Given the description of an element on the screen output the (x, y) to click on. 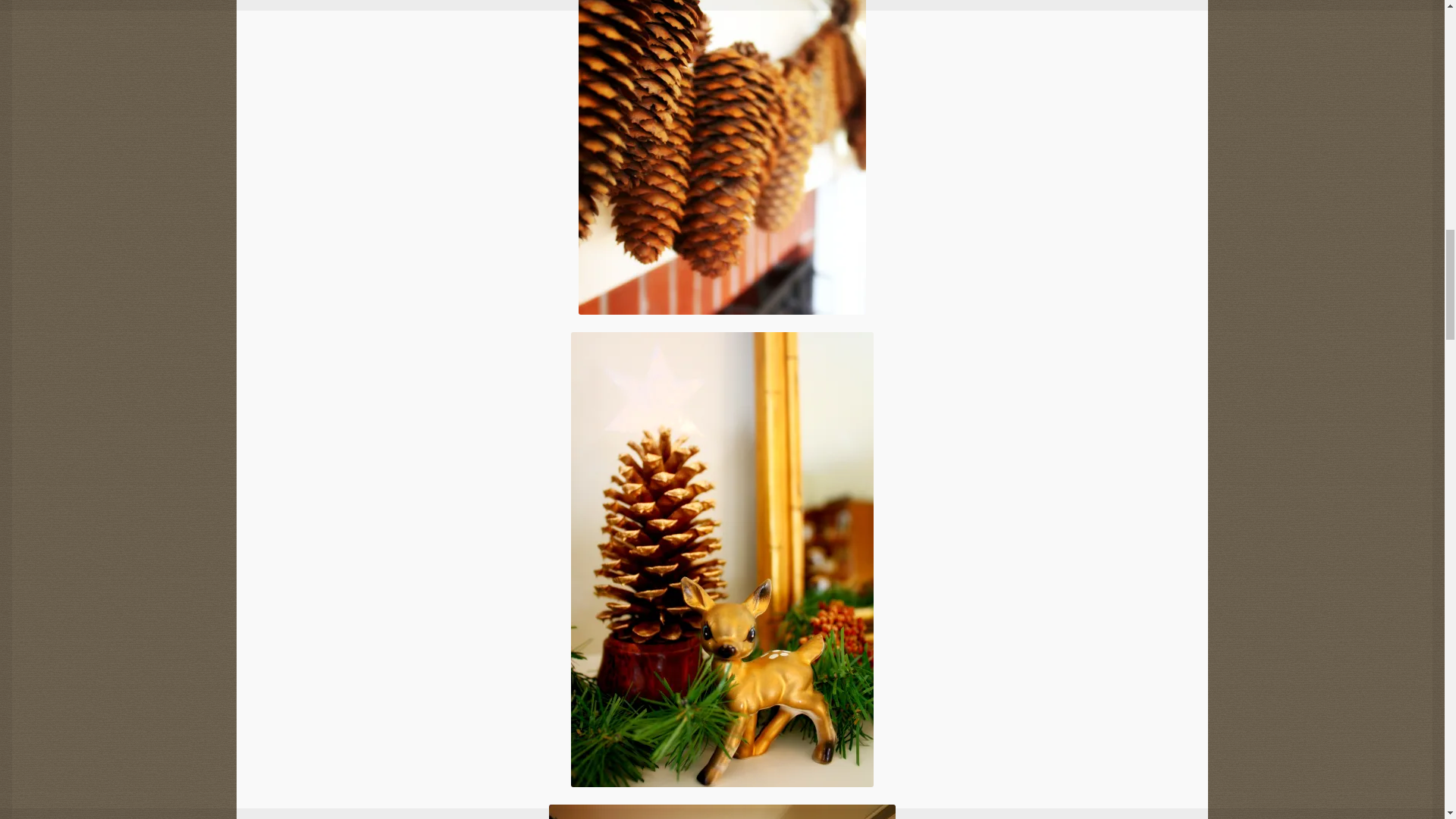
green-gold-christmas-entryway (721, 811)
pine-cone-garland (722, 157)
